Given the description of an element on the screen output the (x, y) to click on. 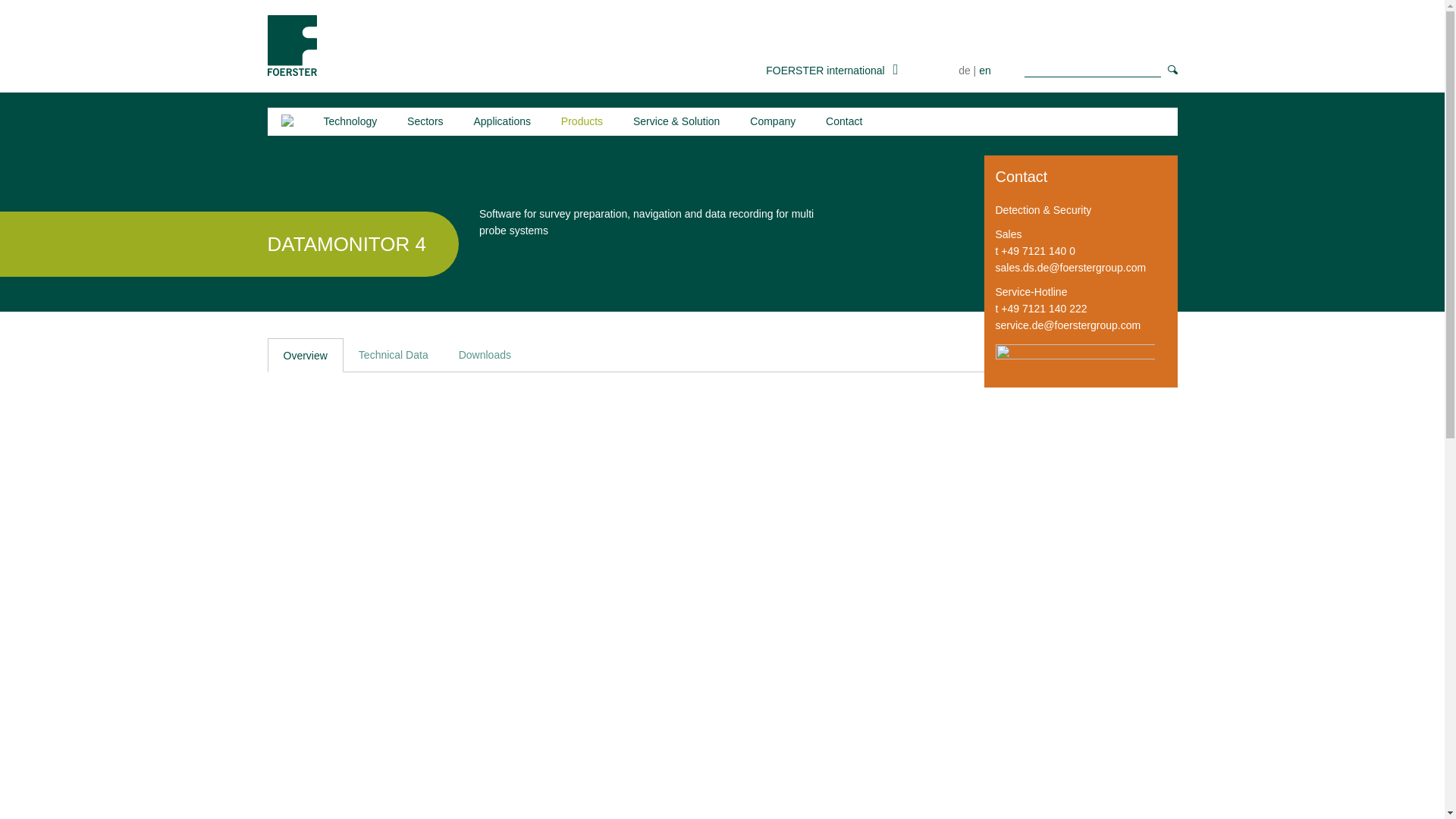
en (984, 70)
Contact (843, 121)
de (964, 70)
